Given the description of an element on the screen output the (x, y) to click on. 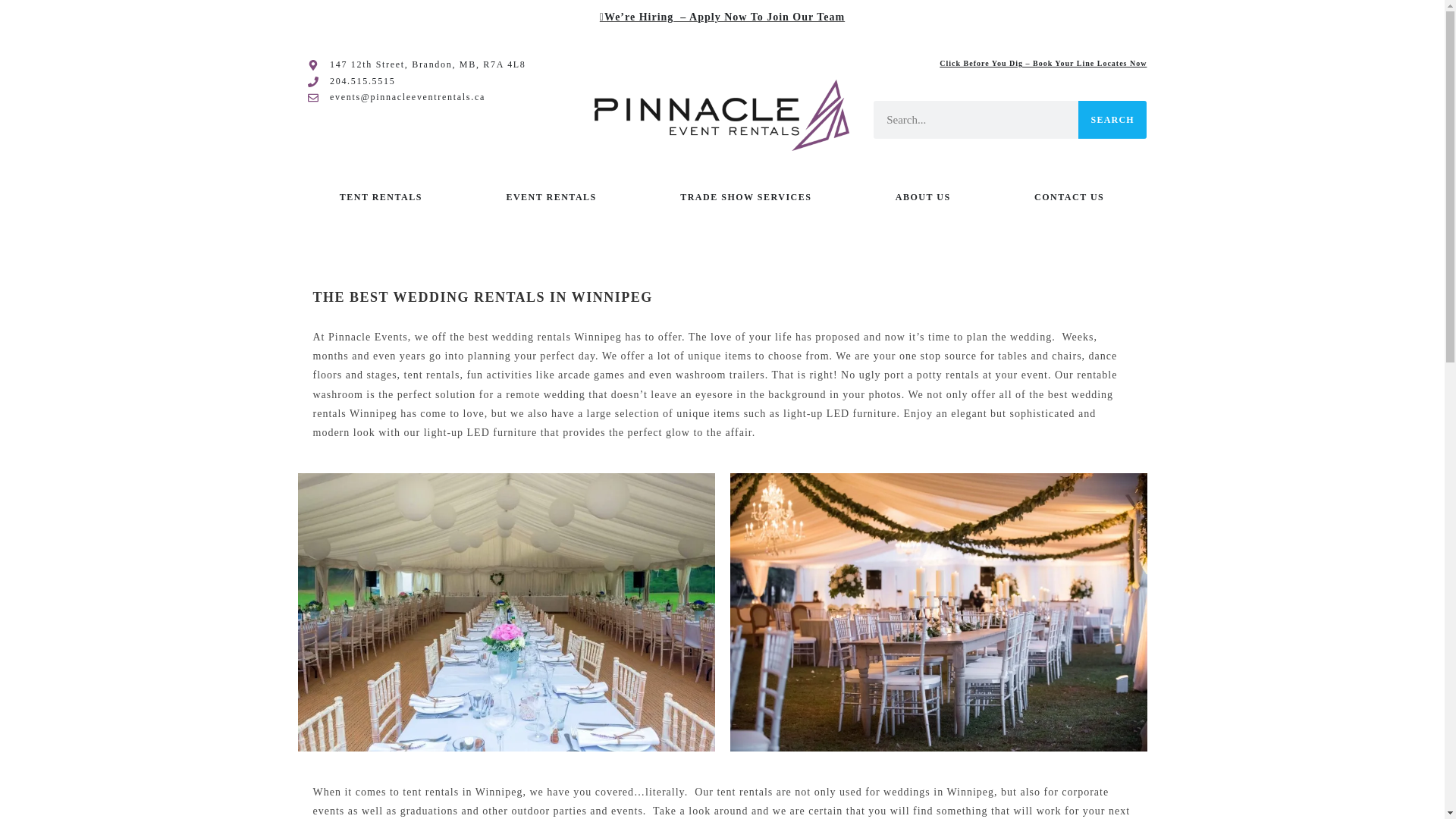
EVENT RENTALS (551, 196)
SEARCH (1112, 119)
147 12th Street, Brandon, MB, R7A 4L8 (437, 64)
204.515.5515 (437, 81)
TENT RENTALS (380, 196)
